Given the description of an element on the screen output the (x, y) to click on. 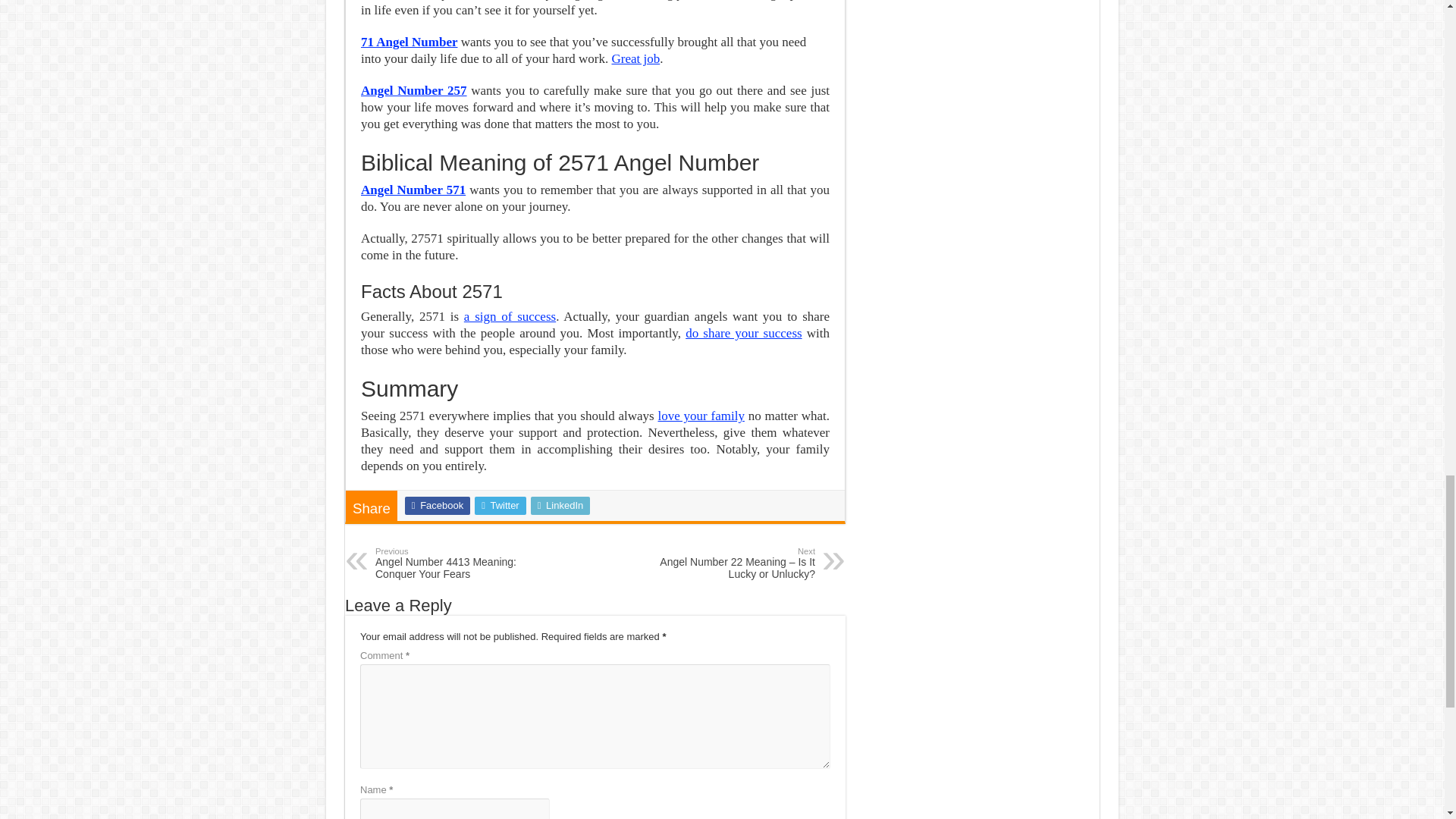
a sign of success (510, 316)
Great job (635, 58)
LinkedIn (561, 505)
love your family (701, 415)
Angel Number 257 (414, 90)
Twitter (499, 505)
Facebook (437, 505)
do share your success (743, 332)
Angel Number 571 (413, 189)
71 Angel Number (409, 42)
